Given the description of an element on the screen output the (x, y) to click on. 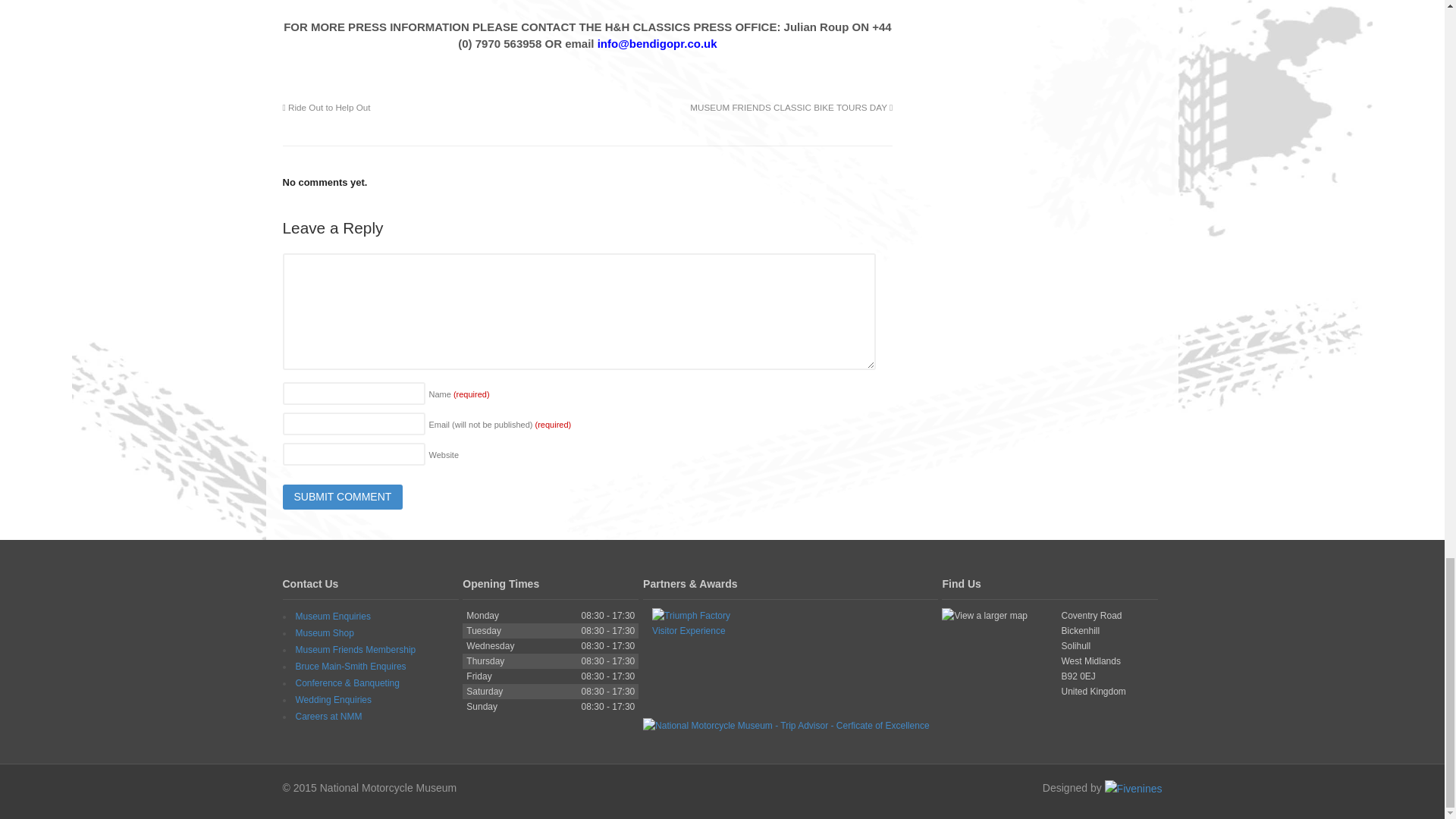
Fivenines (1133, 787)
Submit Comment (342, 497)
